Given the description of an element on the screen output the (x, y) to click on. 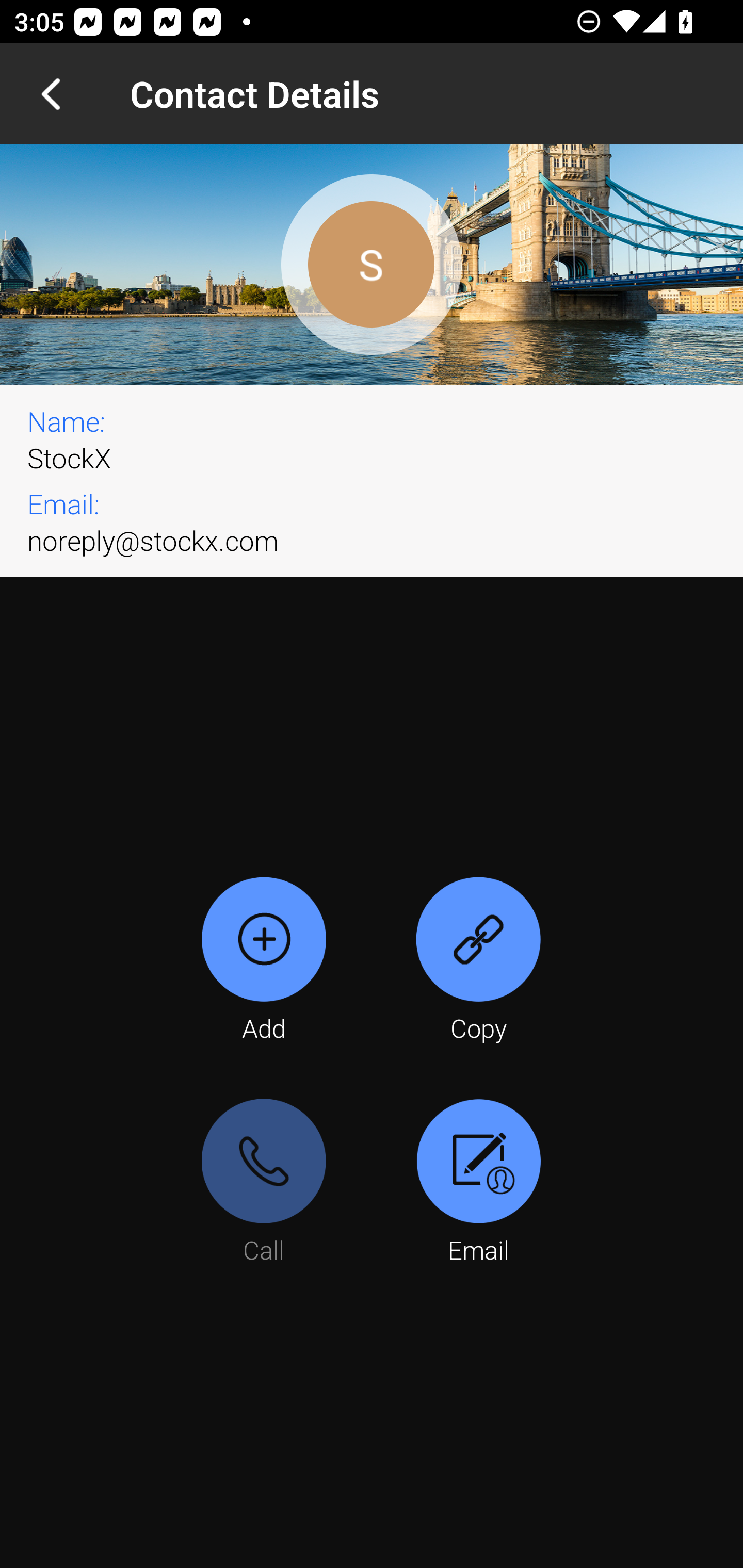
Navigate up (50, 93)
Add (264, 961)
Copy (478, 961)
Call (264, 1182)
Email (478, 1182)
